Given the description of an element on the screen output the (x, y) to click on. 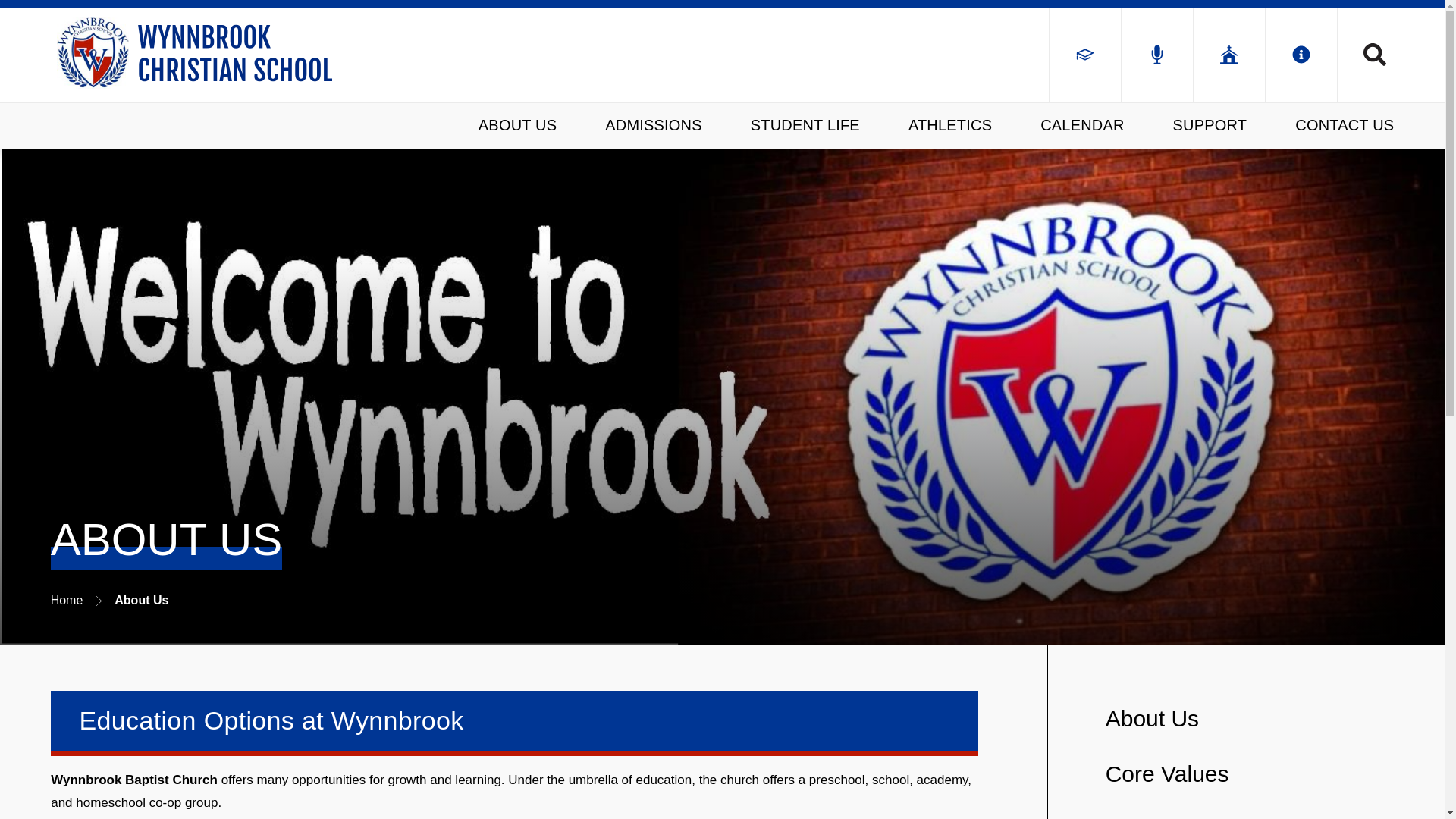
ADMISSIONS (652, 125)
STUDENT LIFE (804, 125)
ATHLETICS (949, 125)
Search (1365, 54)
ABOUT US (517, 125)
